Given the description of an element on the screen output the (x, y) to click on. 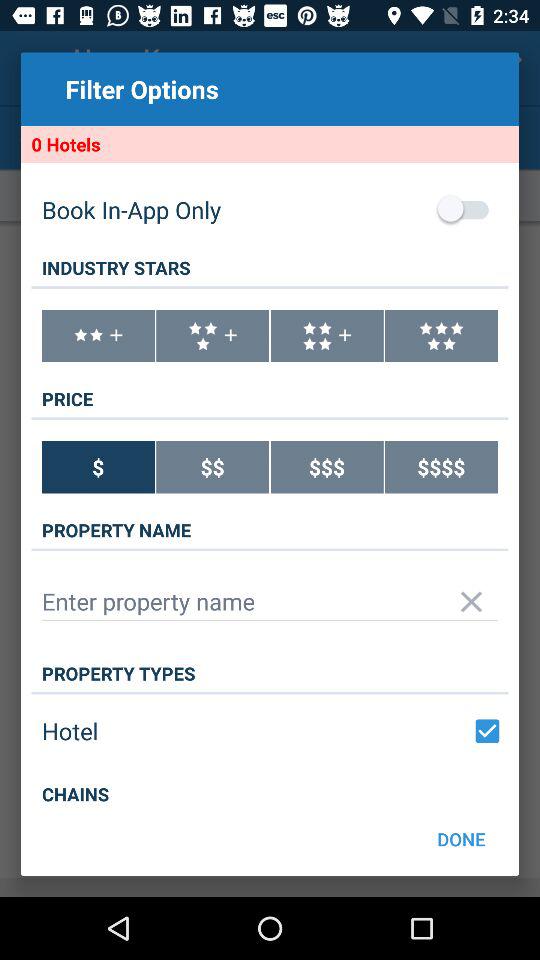
note option (98, 335)
